Given the description of an element on the screen output the (x, y) to click on. 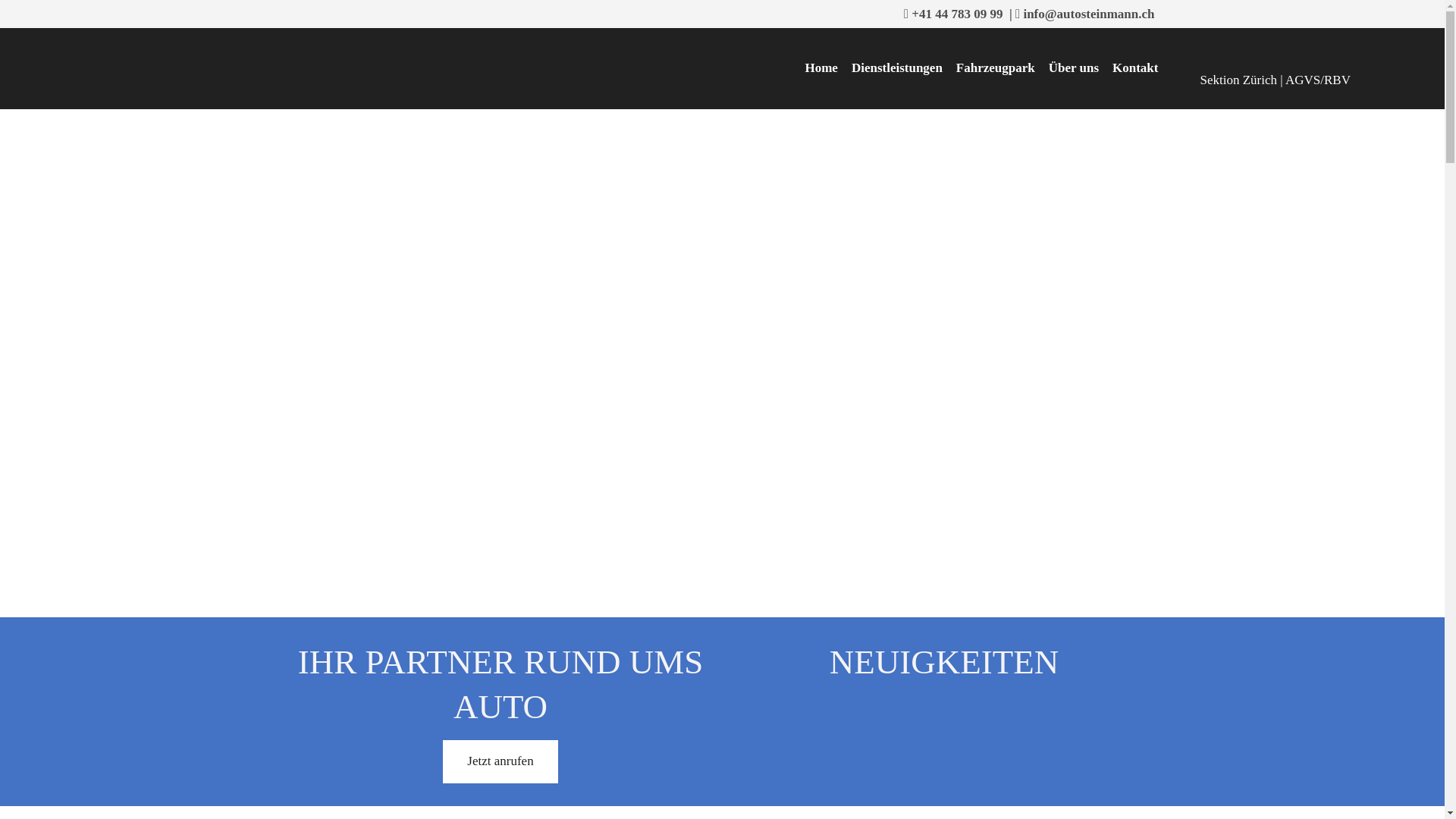
Dienstleistungen Element type: text (896, 68)
AGVS/RBV Element type: text (1317, 79)
Jetzt anrufen Element type: text (499, 761)
+41 44 783 09 99 Element type: text (956, 13)
info@autosteinmann.ch Element type: text (1088, 13)
Auto Steinmann GmbH Element type: hover (266, 48)
Home Element type: text (820, 68)
Fahrzeugpark Element type: text (995, 68)
Kontakt Element type: text (1134, 68)
